Given the description of an element on the screen output the (x, y) to click on. 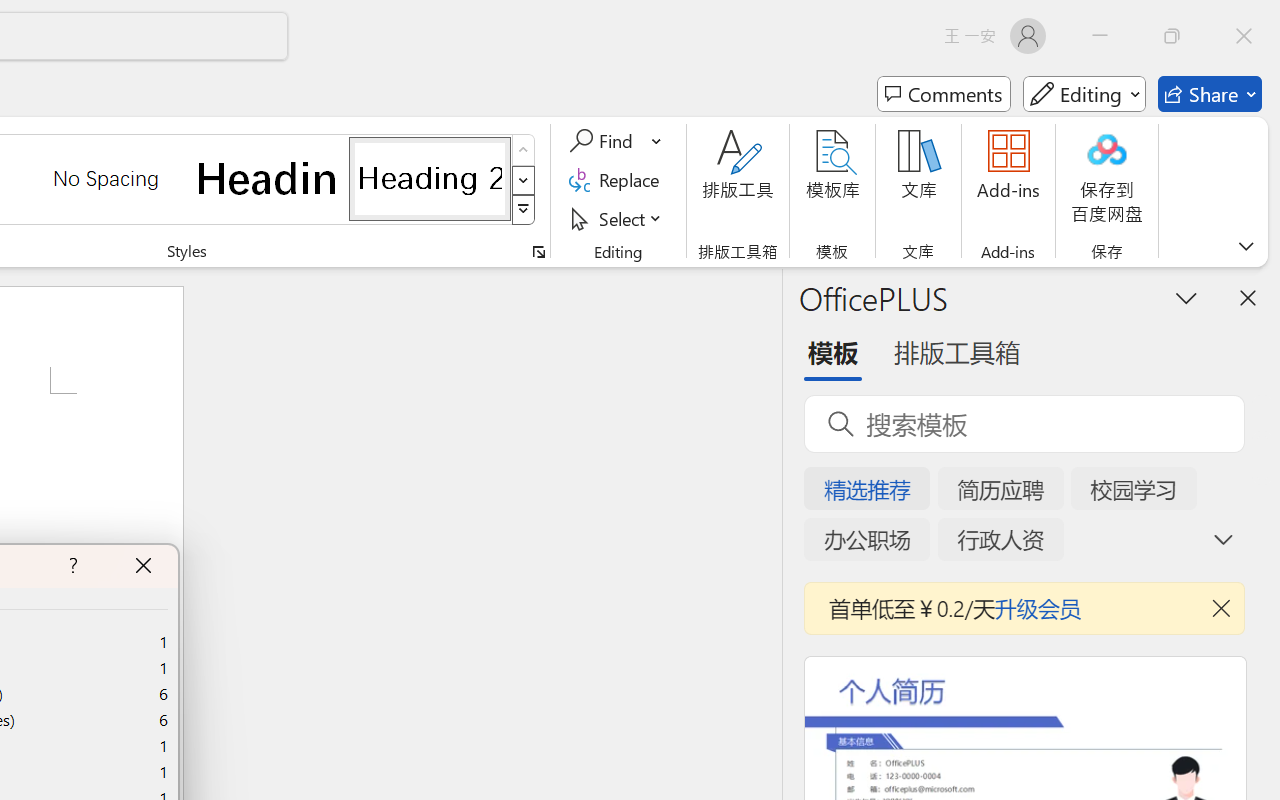
Styles (523, 209)
Find (616, 141)
Restore Down (1172, 36)
Row up (523, 150)
Minimize (1099, 36)
